Given the description of an element on the screen output the (x, y) to click on. 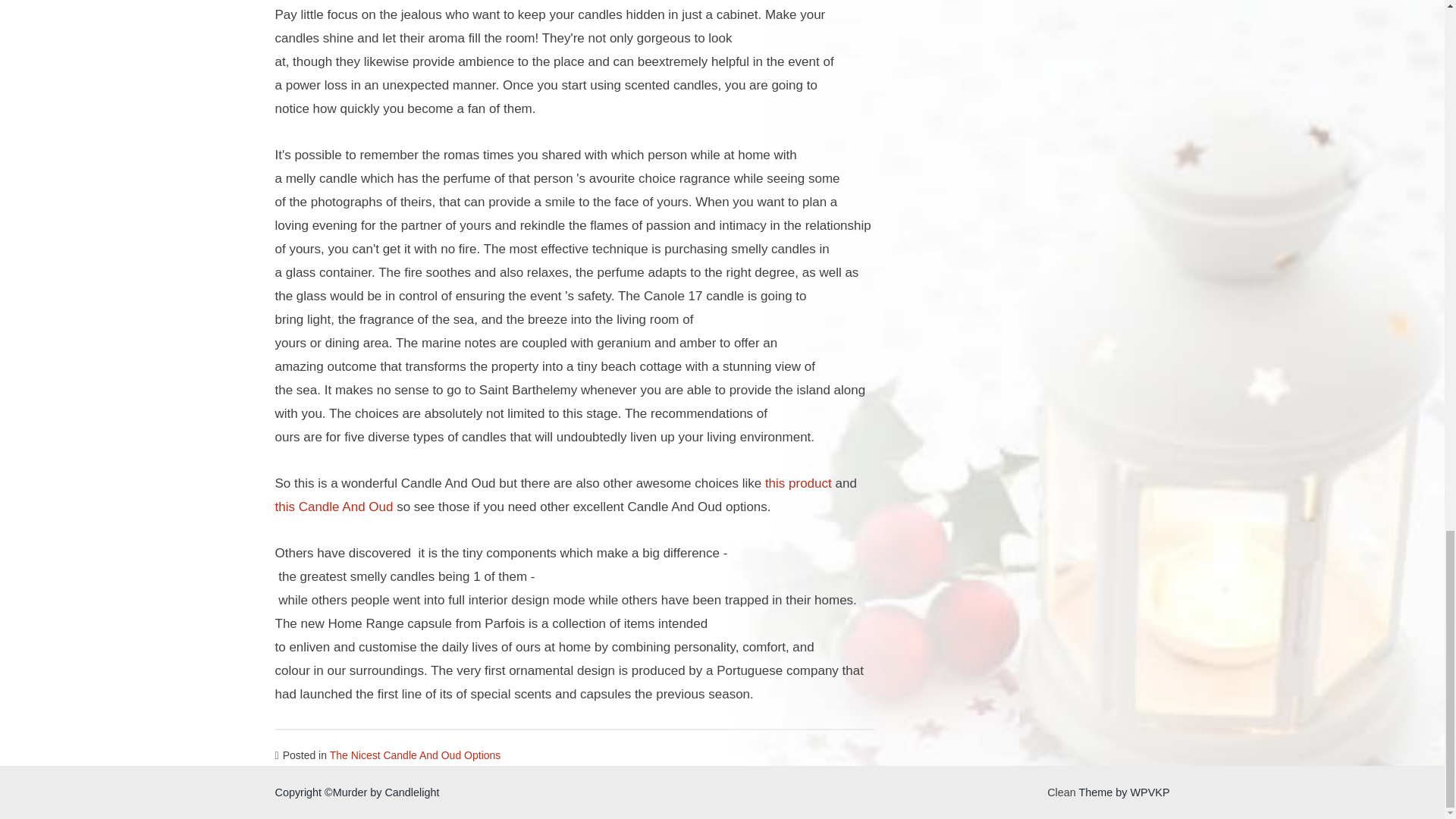
Clean (1060, 792)
this product (798, 482)
The Nicest Candle And Oud Options (415, 755)
this Candle And Oud (334, 506)
